Given the description of an element on the screen output the (x, y) to click on. 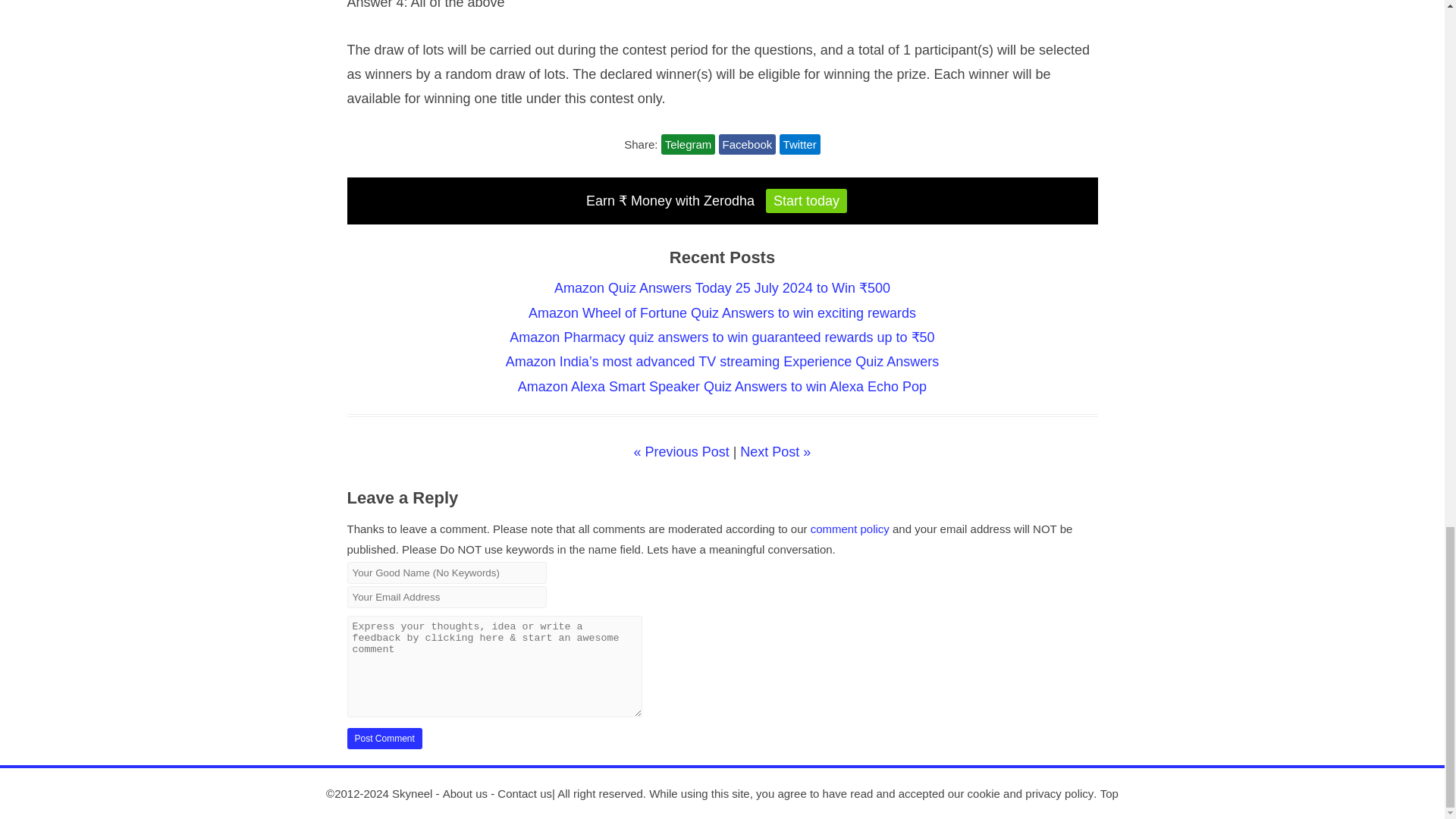
Skyneel (411, 793)
Share on Facebook (747, 144)
cookie and privacy policy (1031, 793)
Contact Skyneel Team (524, 793)
Comment Policy (849, 527)
Share on Telegram (688, 144)
Top (1109, 793)
Post Comment (384, 738)
Contact us (524, 793)
Tweet on Twitter (799, 144)
Read more about us (464, 793)
About us (464, 793)
Twitter (799, 144)
Post Comment (384, 738)
